Given the description of an element on the screen output the (x, y) to click on. 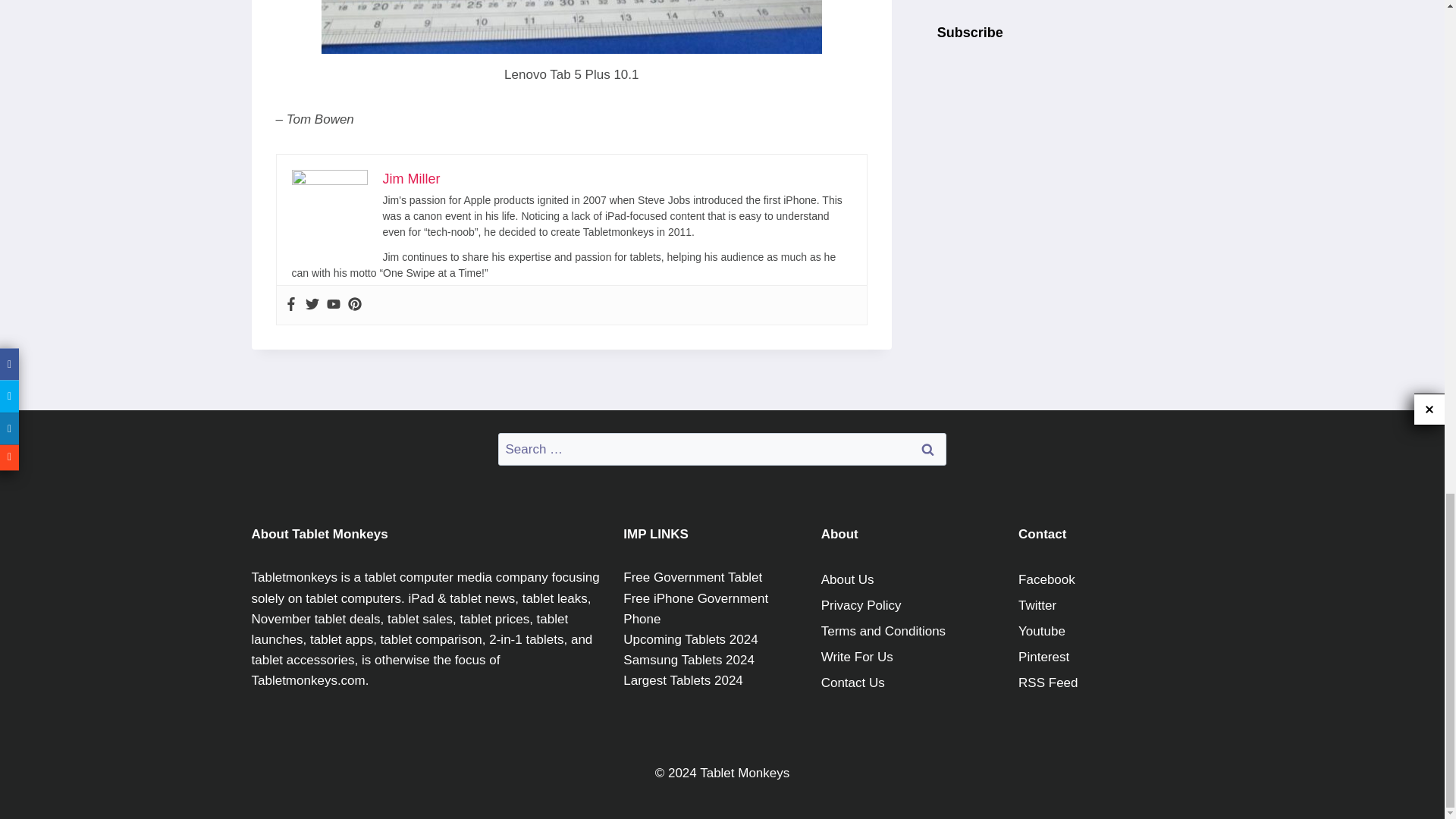
Search (927, 449)
Youtube (332, 304)
Twitter (311, 304)
Facebook (290, 304)
Pinterest (354, 304)
Search (927, 449)
